Given the description of an element on the screen output the (x, y) to click on. 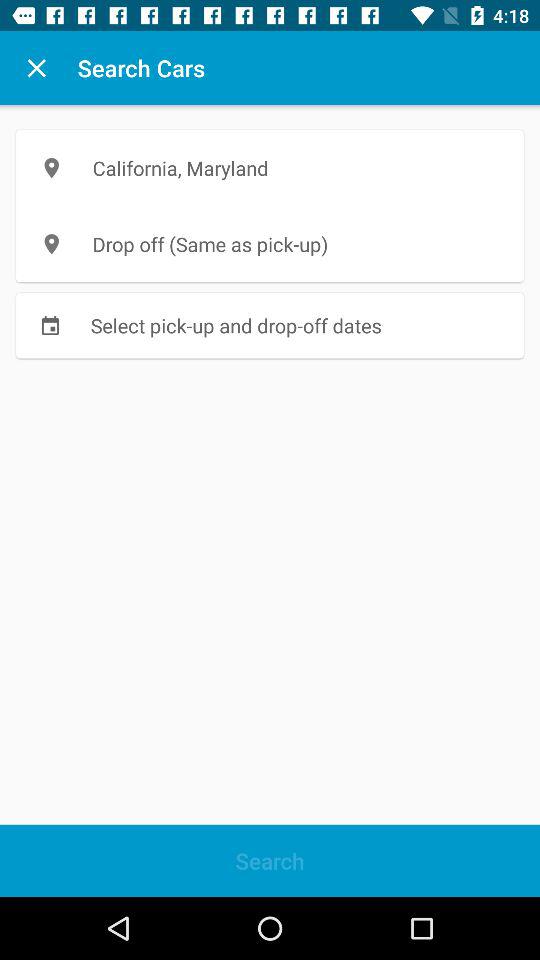
choose the item to the left of search cars (36, 68)
